Given the description of an element on the screen output the (x, y) to click on. 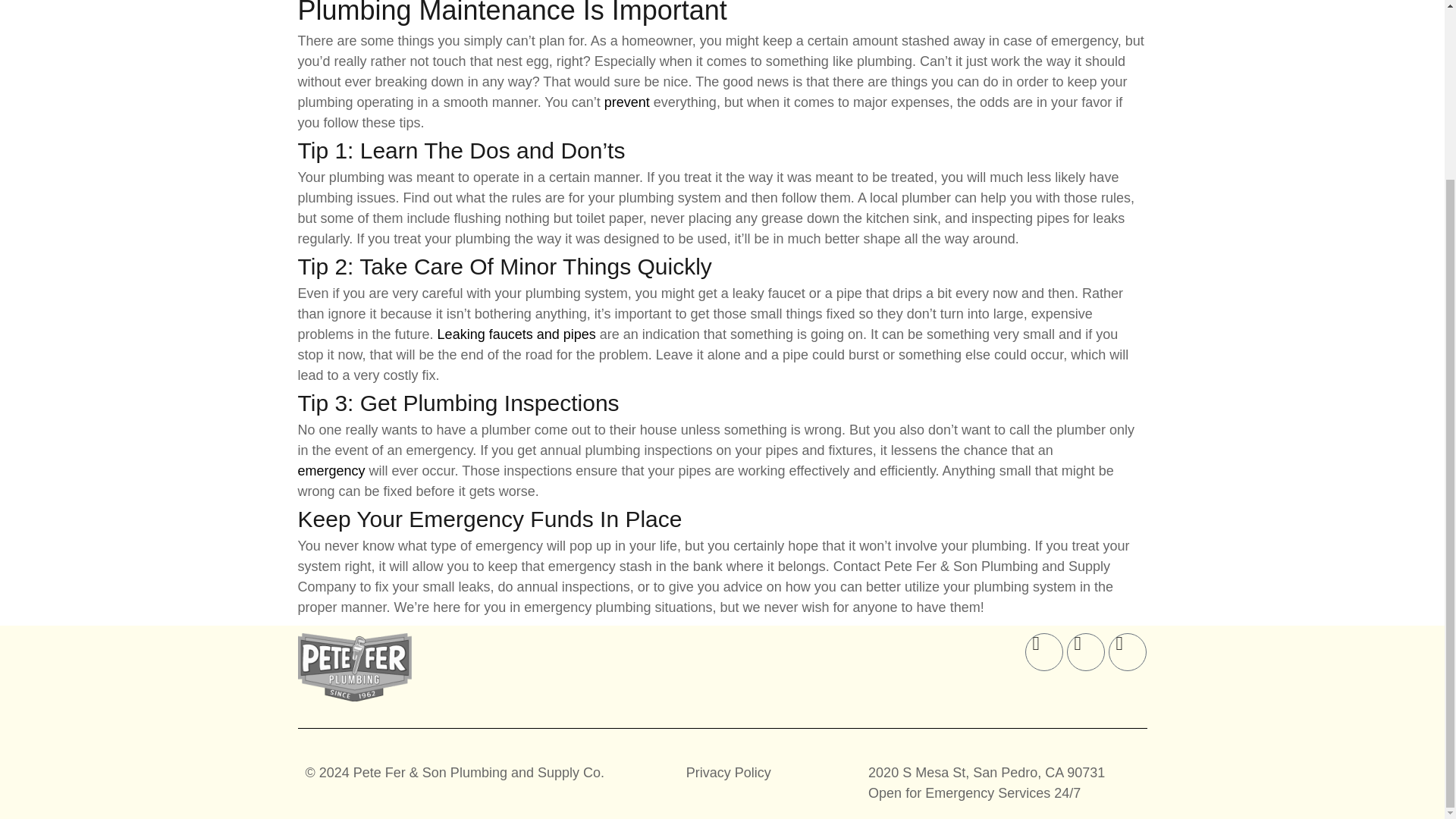
Logo-grayscale (353, 667)
